Given the description of an element on the screen output the (x, y) to click on. 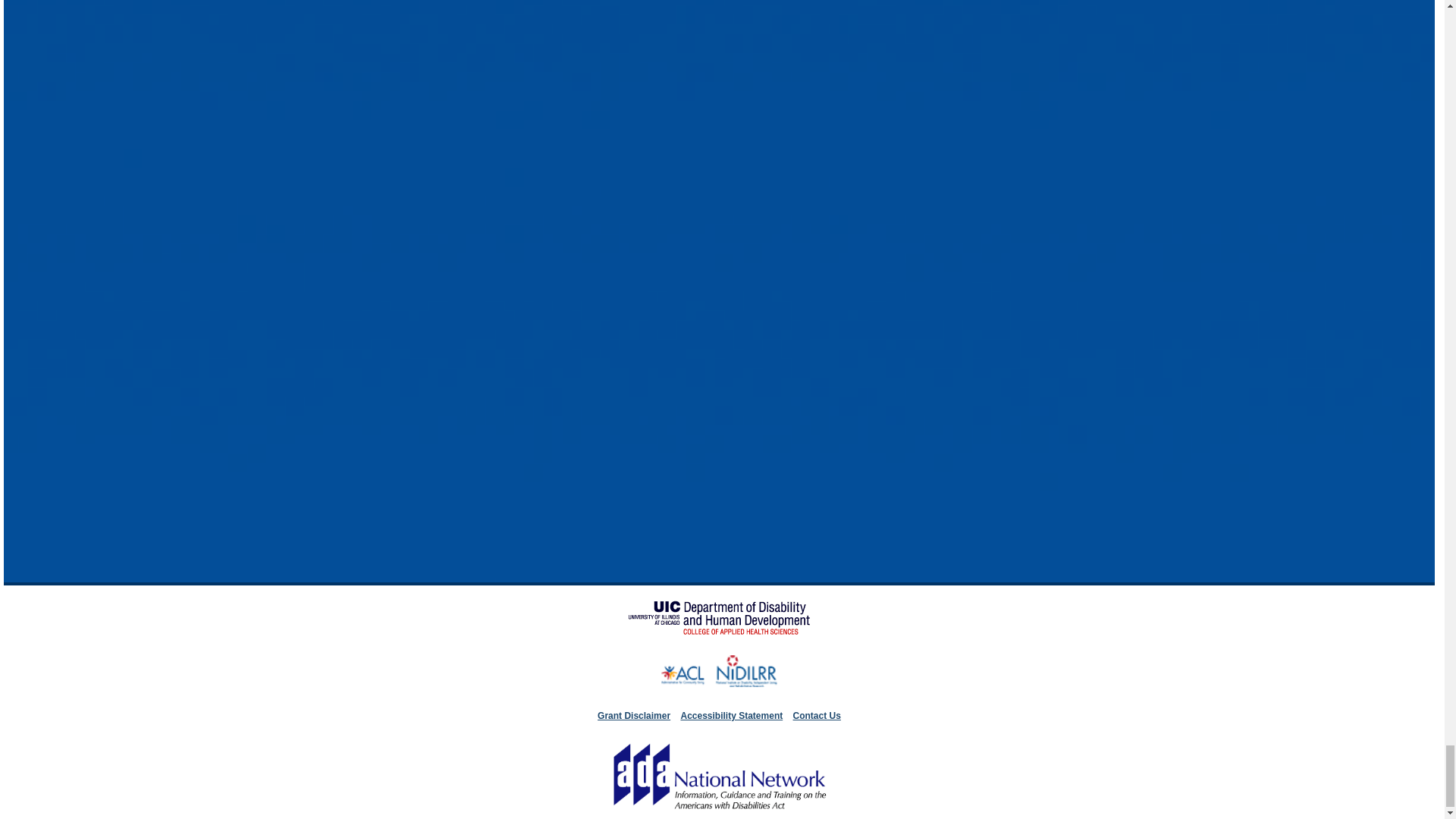
Contact Us (817, 715)
Go To ADA National Network (719, 811)
Grant Disclaimer (632, 715)
Accessibility Statement (731, 715)
